Given the description of an element on the screen output the (x, y) to click on. 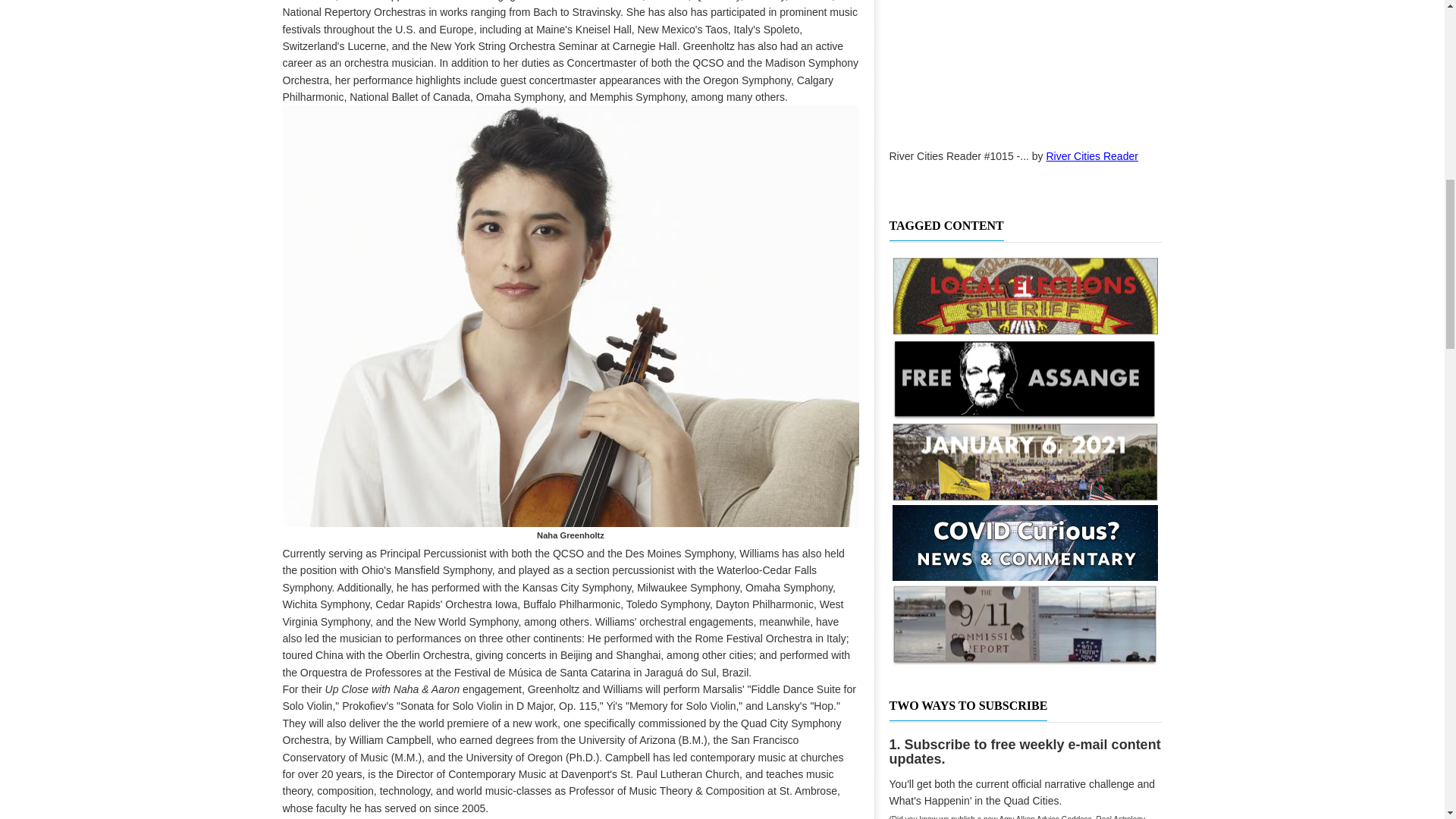
View River Cities Reader's profile on Scribd (1092, 155)
